Given the description of an element on the screen output the (x, y) to click on. 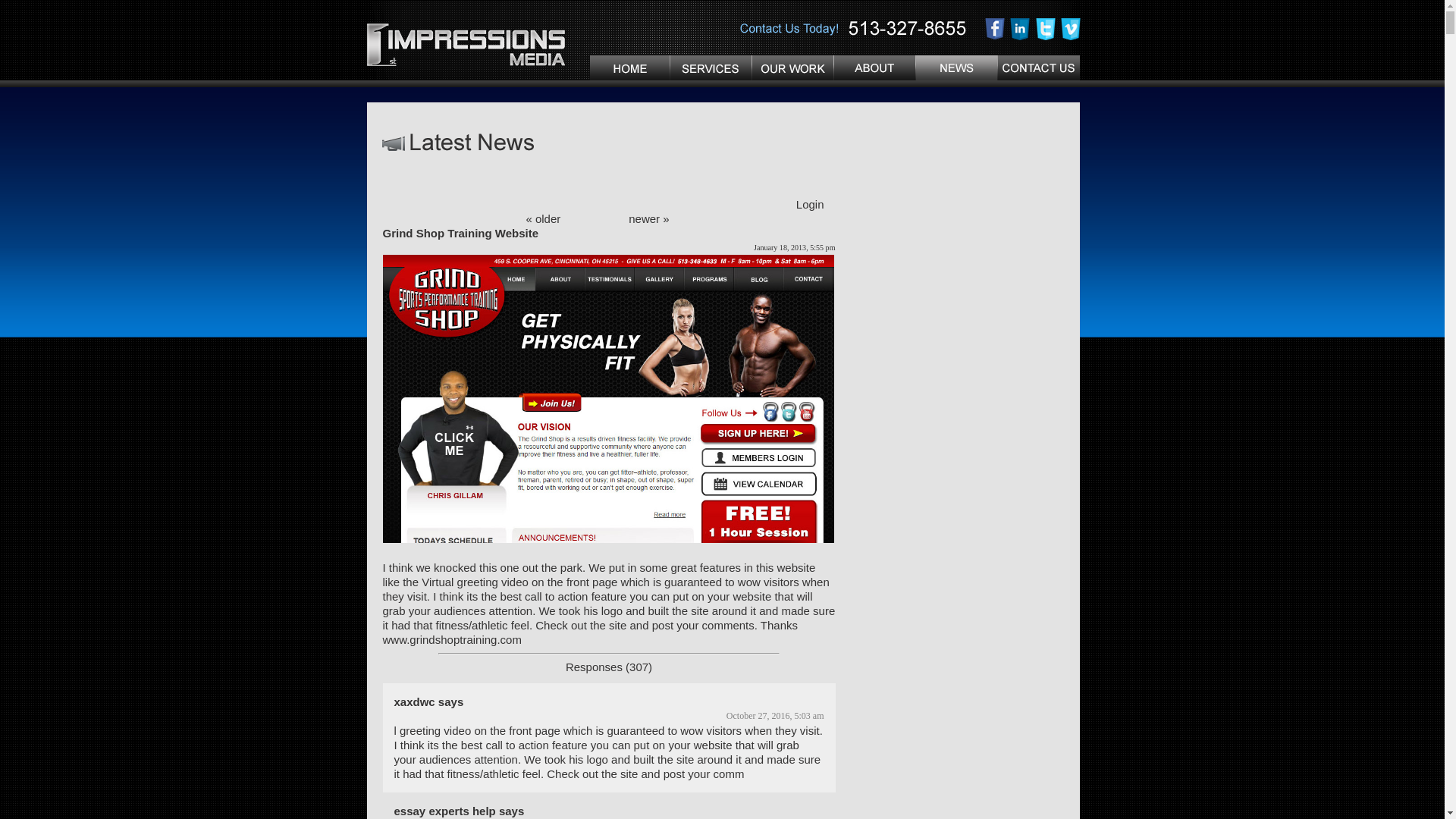
Grind Shop Training Website Element type: text (460, 232)
www.grindshoptraining.com Element type: text (451, 639)
SERVICES Element type: hover (710, 67)
CONTACT US Element type: hover (1038, 67)
HOME Element type: hover (629, 67)
ABOUT Element type: hover (874, 67)
News Element type: hover (956, 67)
Login Element type: text (810, 203)
Grind Shop Training Website Element type: hover (607, 398)
essay experts help Element type: text (444, 810)
OUR WORK Element type: hover (792, 67)
xaxdwc Element type: text (414, 701)
